Given the description of an element on the screen output the (x, y) to click on. 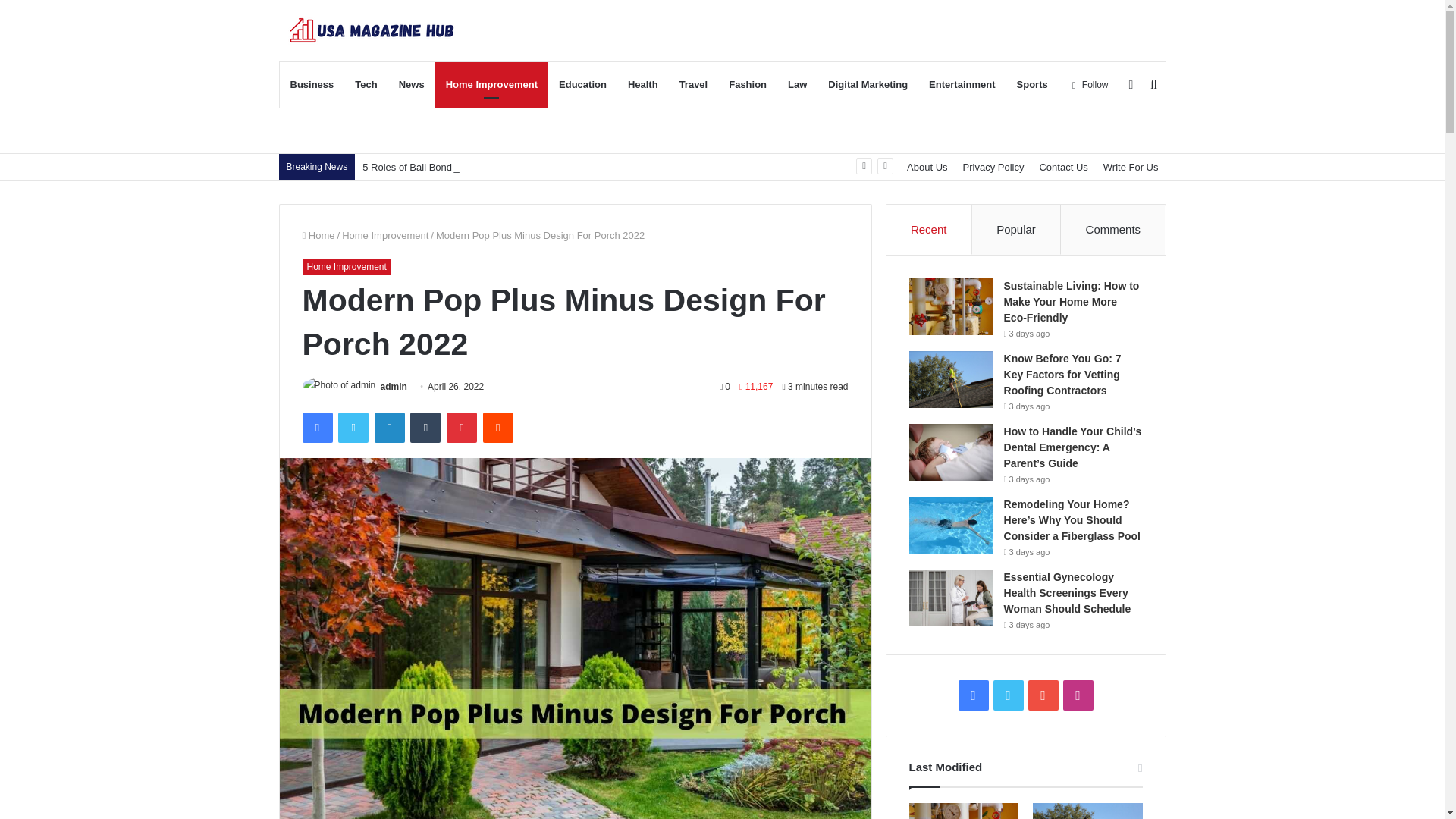
LinkedIn (389, 427)
Reddit (498, 427)
Facebook (316, 427)
Sports (1032, 84)
Entertainment (962, 84)
admin (393, 386)
Health (642, 84)
Tech (365, 84)
About Us (927, 166)
admin (393, 386)
Fashion (747, 84)
5 Roles of Bail Bond Agents in the Justice System (471, 166)
Home Improvement (345, 266)
Write For Us (1131, 166)
LinkedIn (389, 427)
